Given the description of an element on the screen output the (x, y) to click on. 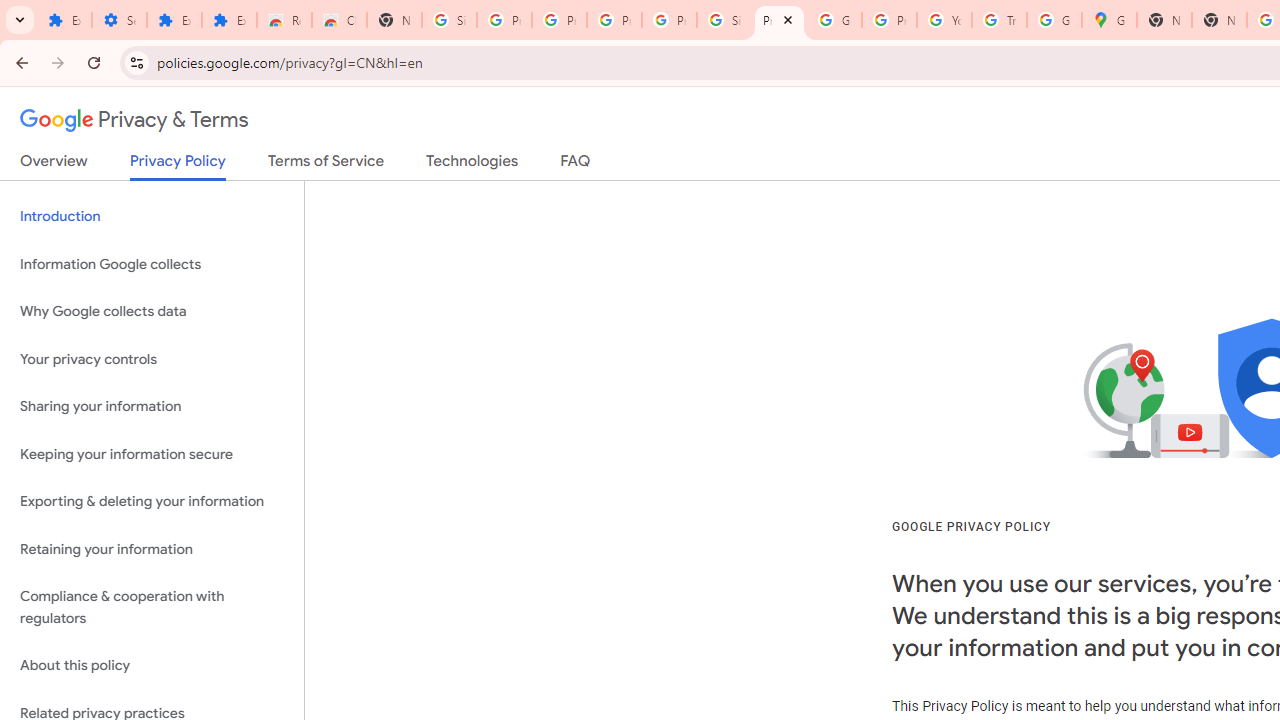
Exporting & deleting your information (152, 502)
Sharing your information (152, 407)
Google Maps (1108, 20)
New Tab (1163, 20)
YouTube (943, 20)
Compliance & cooperation with regulators (152, 607)
Retaining your information (152, 548)
